Given the description of an element on the screen output the (x, y) to click on. 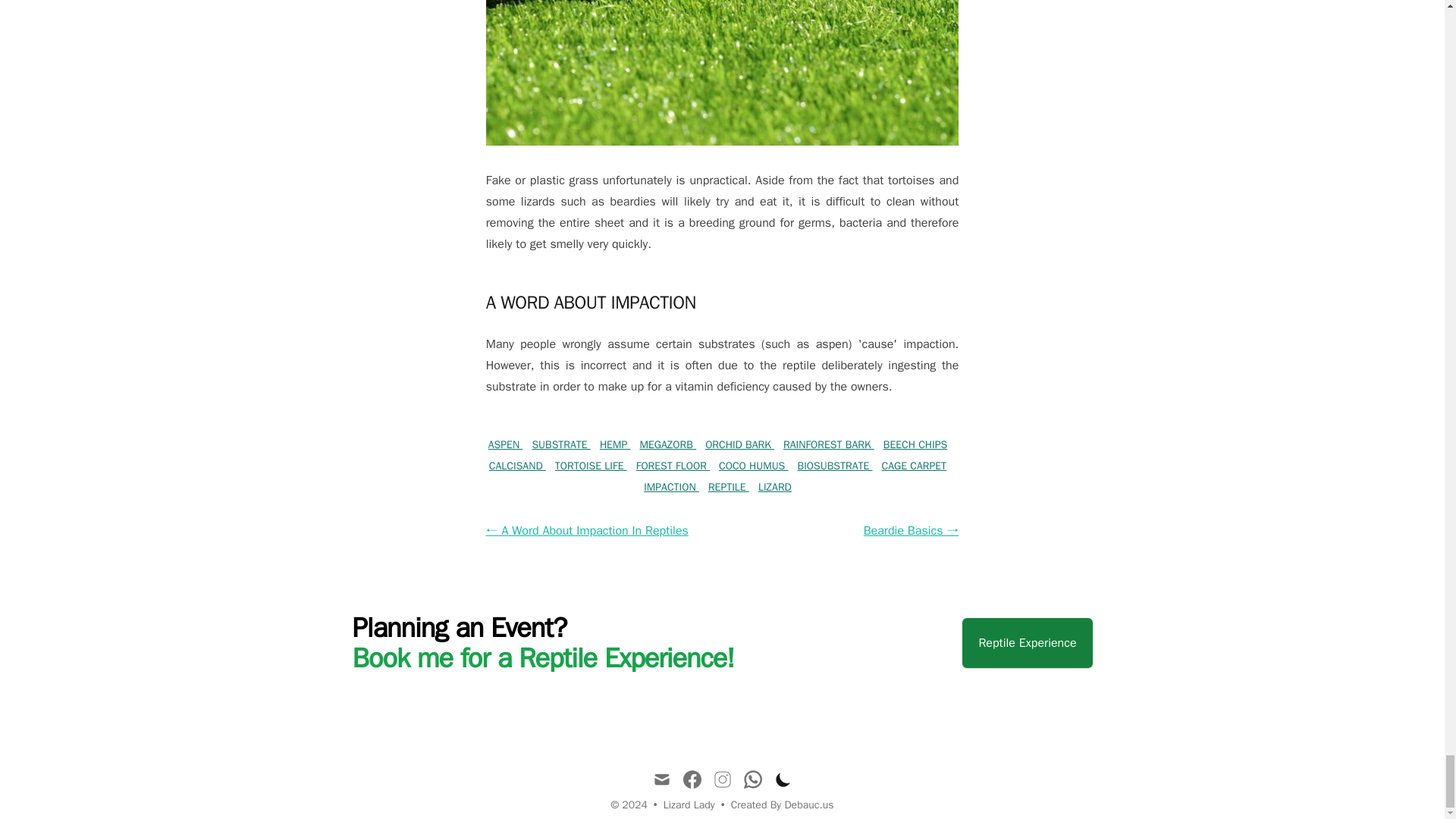
HEMP (614, 444)
SUBSTRATE (561, 444)
RAINFOREST BARK (829, 444)
ASPEN (504, 444)
MEGAZORB (667, 444)
ORCHID BARK (739, 444)
